Given the description of an element on the screen output the (x, y) to click on. 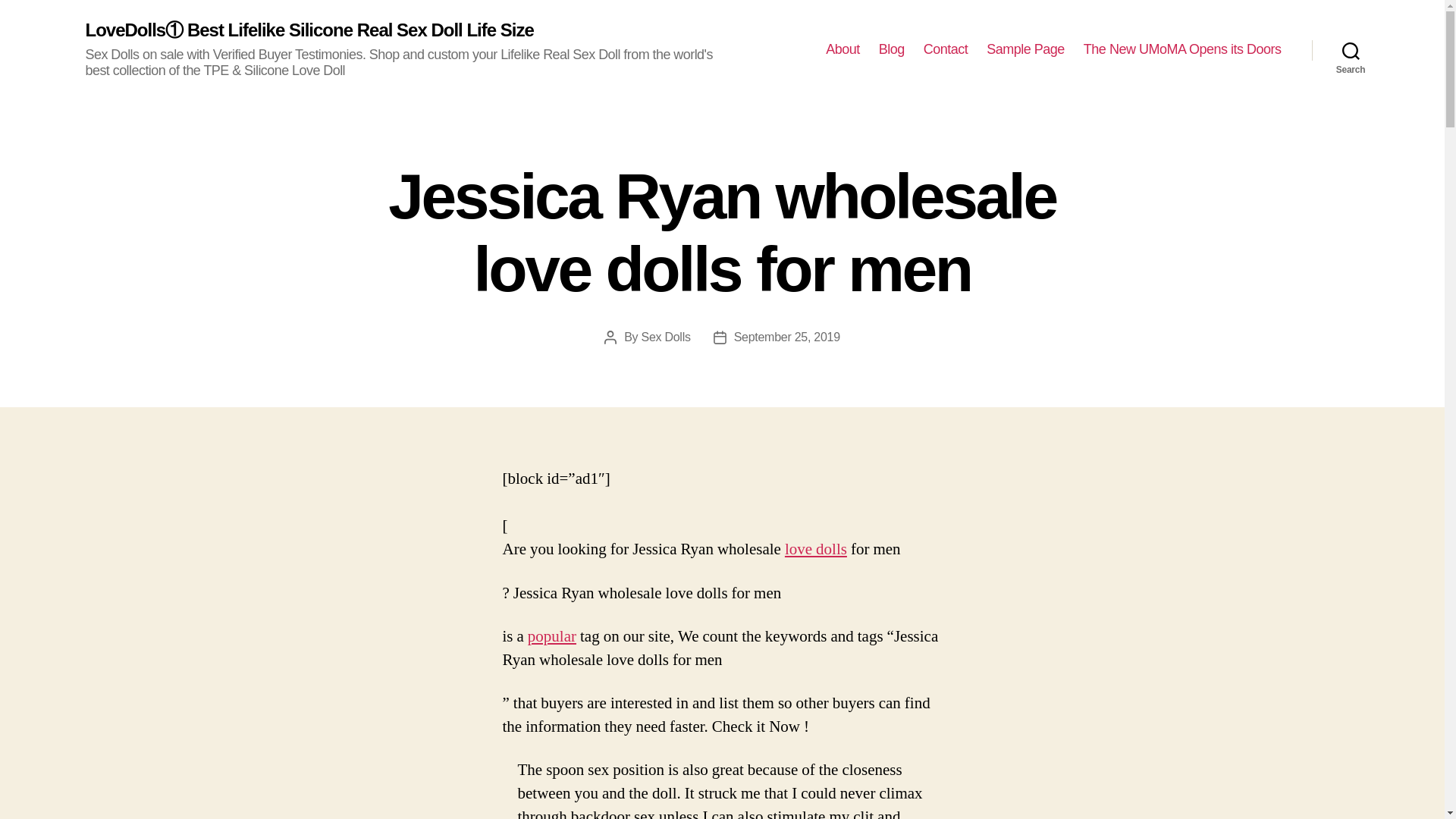
Search (1350, 49)
Blog (891, 49)
Sample Page (1025, 49)
About (842, 49)
love dolls (815, 548)
popular (551, 636)
The New UMoMA Opens its Doors (1182, 49)
September 25, 2019 (786, 336)
Sex Dolls (666, 336)
Contact (945, 49)
